Given the description of an element on the screen output the (x, y) to click on. 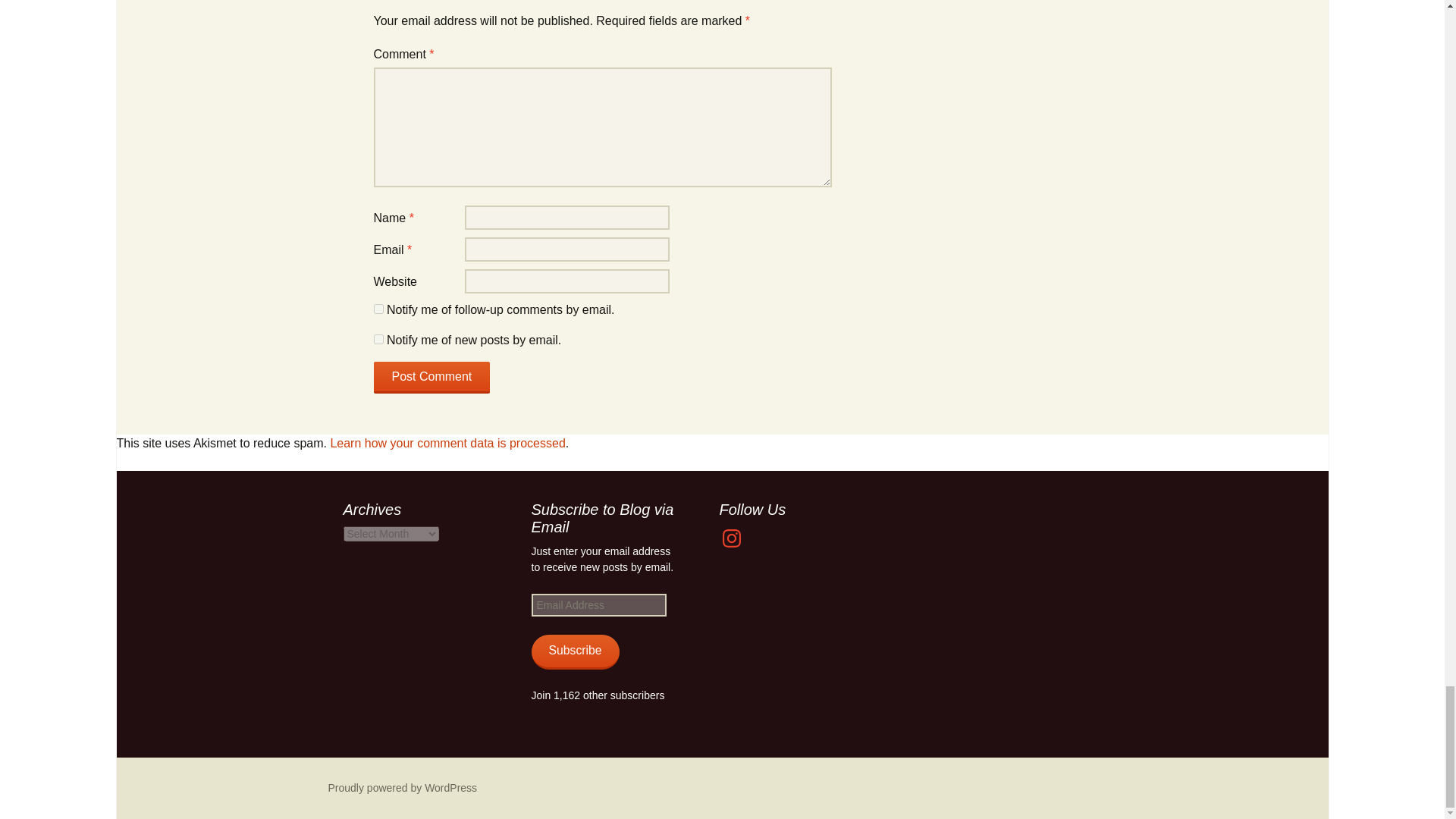
subscribe (377, 338)
subscribe (377, 308)
Post Comment (430, 377)
